Given the description of an element on the screen output the (x, y) to click on. 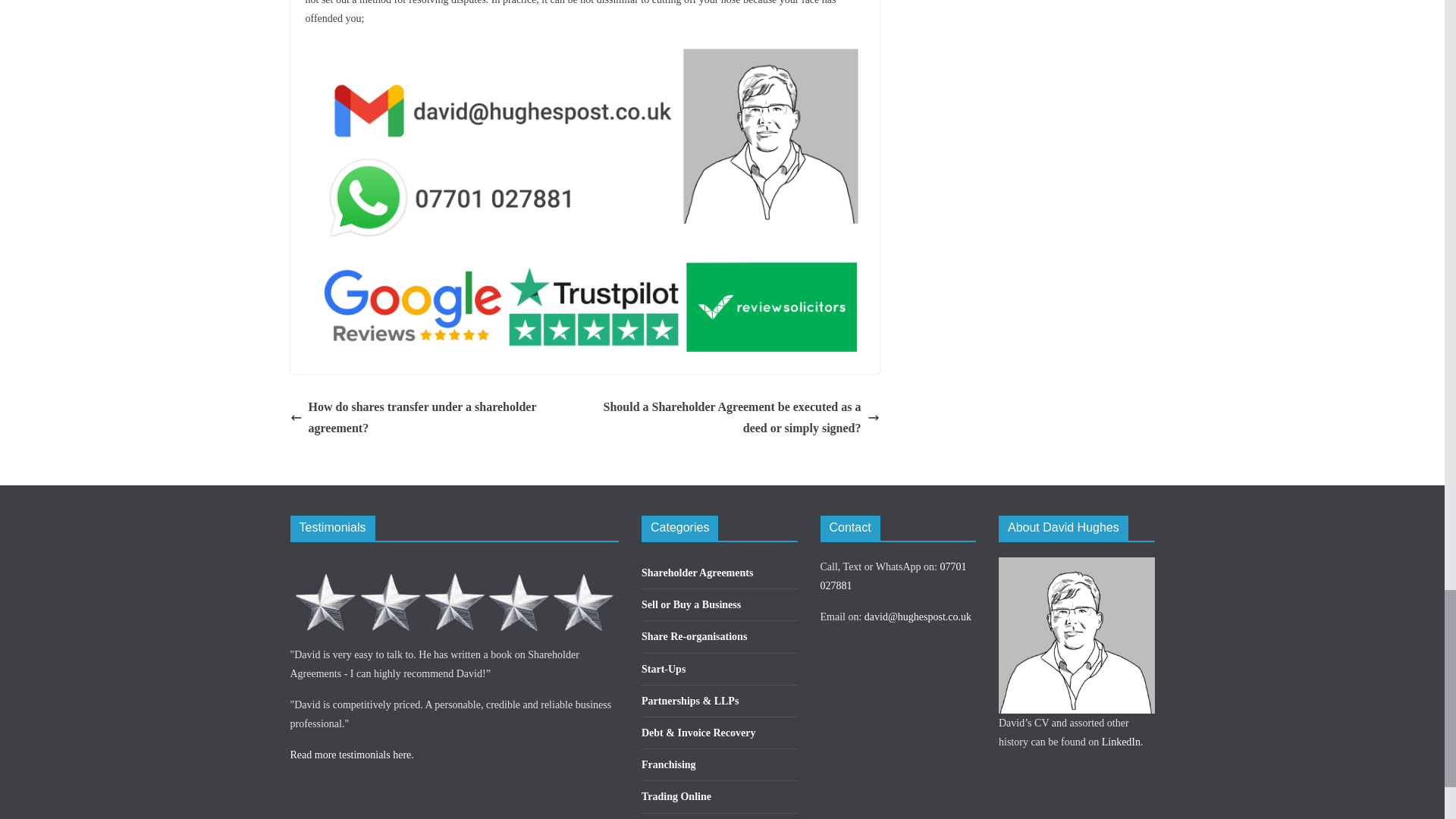
Sell or Buy a Business (691, 604)
How do shares transfer under a shareholder agreement? (432, 418)
Start-Ups (663, 668)
Share Re-organisations (694, 636)
Shareholder Agreements (697, 572)
LinkedIn (1121, 741)
Read more testimonials here. (351, 754)
